Given the description of an element on the screen output the (x, y) to click on. 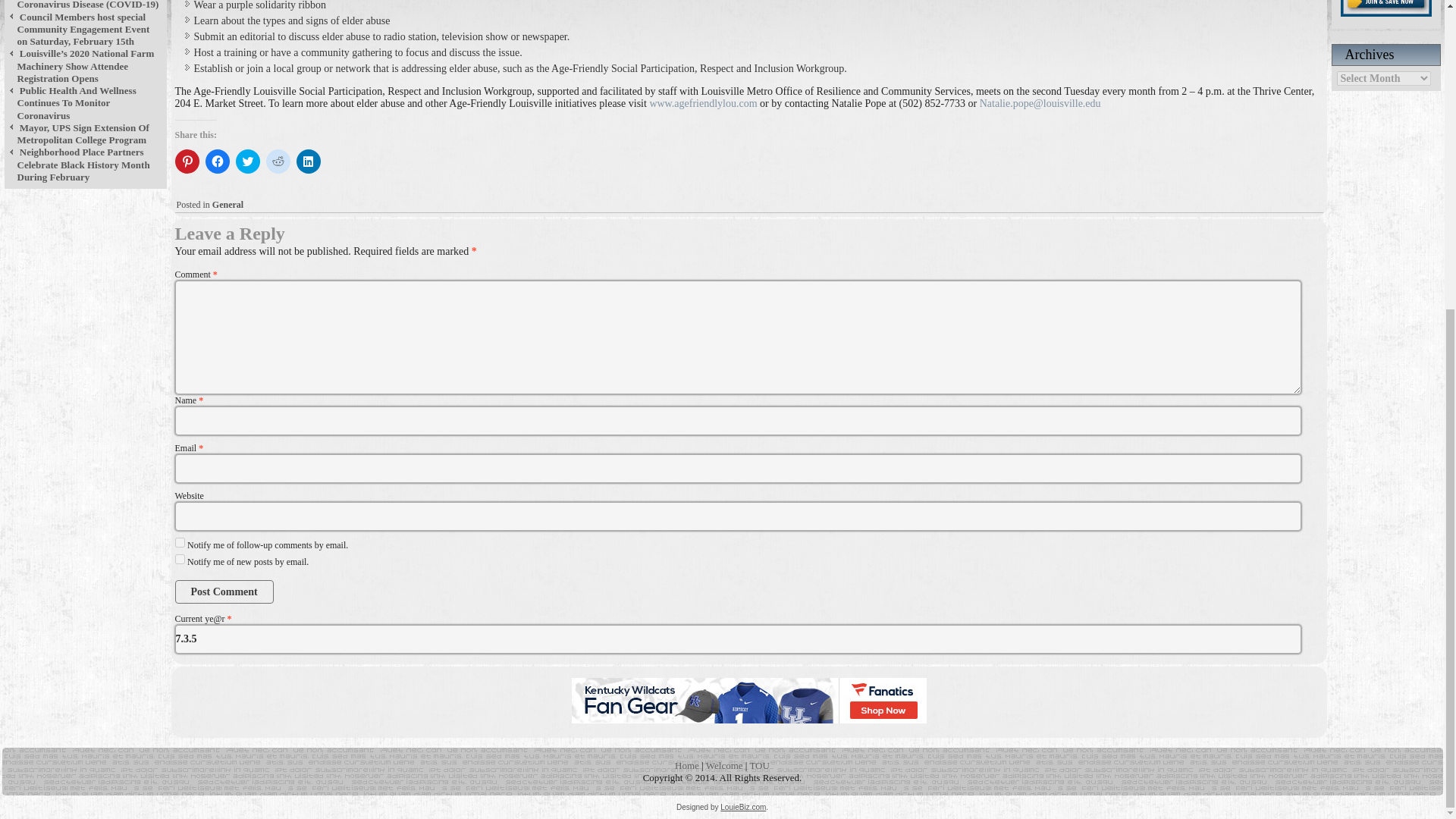
TOU (758, 765)
LouieBiz.com (742, 807)
Click to share on Pinterest (186, 161)
Post Comment (223, 591)
Click to share on LinkedIn (307, 161)
Home (686, 765)
subscribe (179, 542)
General (227, 204)
Click to share on Twitter (246, 161)
